Given the description of an element on the screen output the (x, y) to click on. 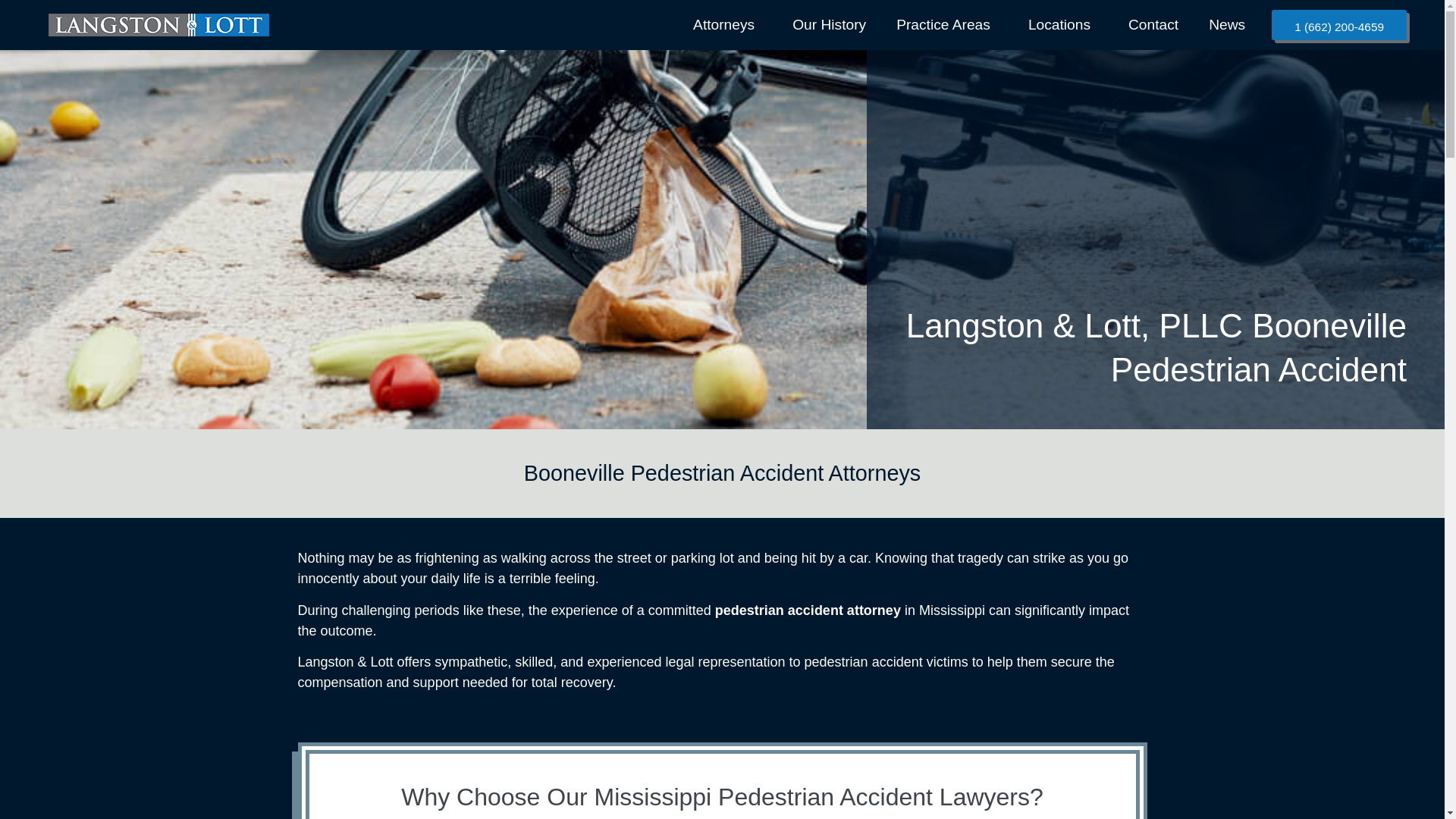
Practice Areas (946, 24)
Locations (1063, 24)
Our History (828, 24)
Contact (1153, 24)
Attorneys (727, 24)
News (1226, 24)
